Given the description of an element on the screen output the (x, y) to click on. 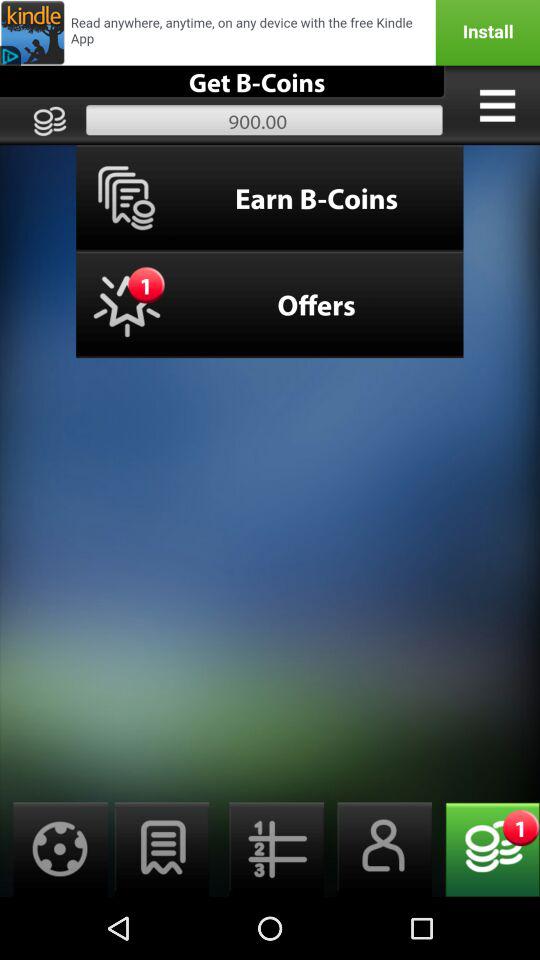
go to setting option (54, 849)
